Given the description of an element on the screen output the (x, y) to click on. 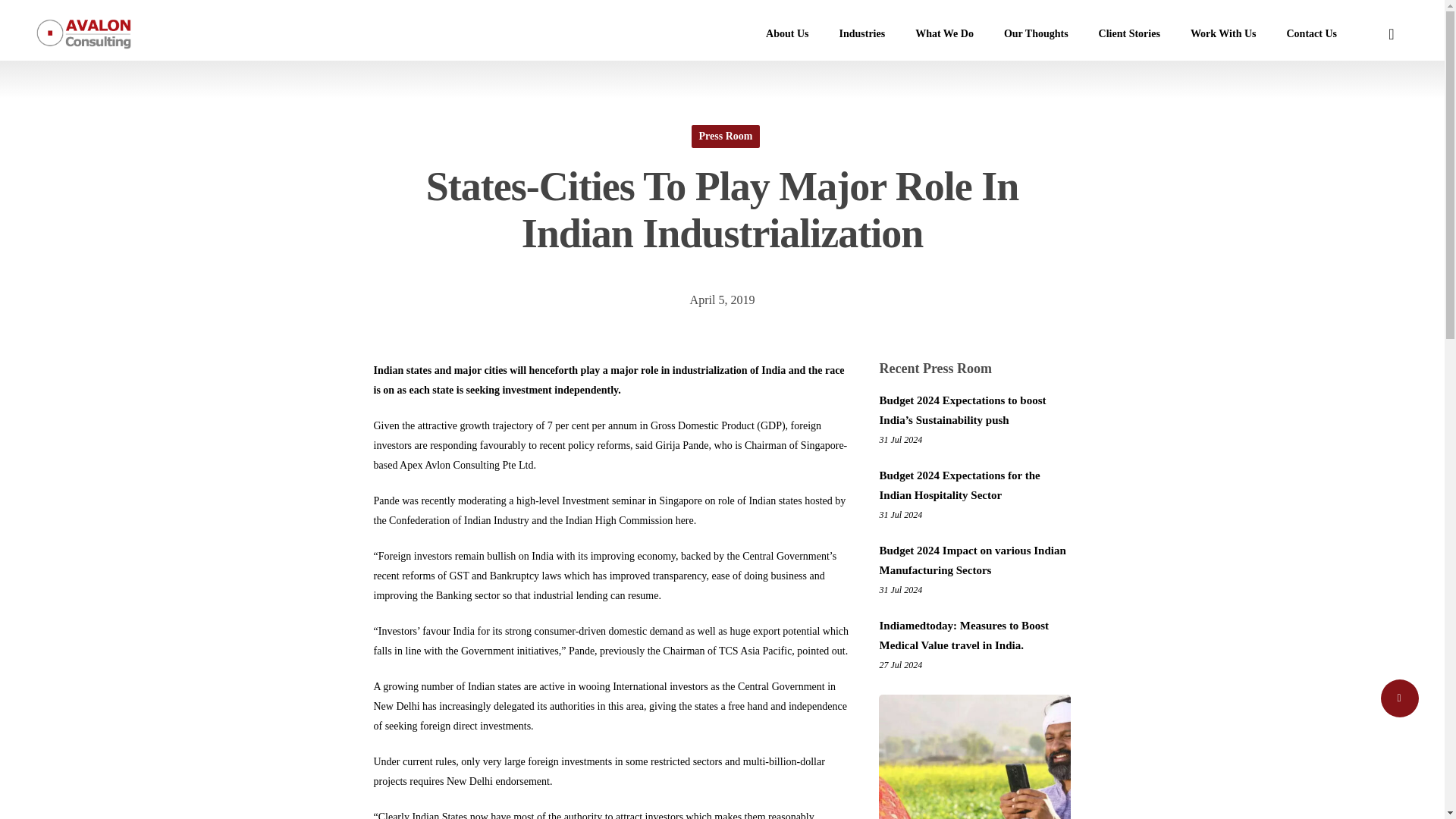
Budget 2024 Expectations for the Indian Hospitality Sector (974, 485)
Budget 2024 Impact on various Indian Manufacturing Sectors (974, 559)
Our Thoughts (1035, 33)
What We Do (943, 33)
Industries (861, 33)
About Us (787, 33)
